Given the description of an element on the screen output the (x, y) to click on. 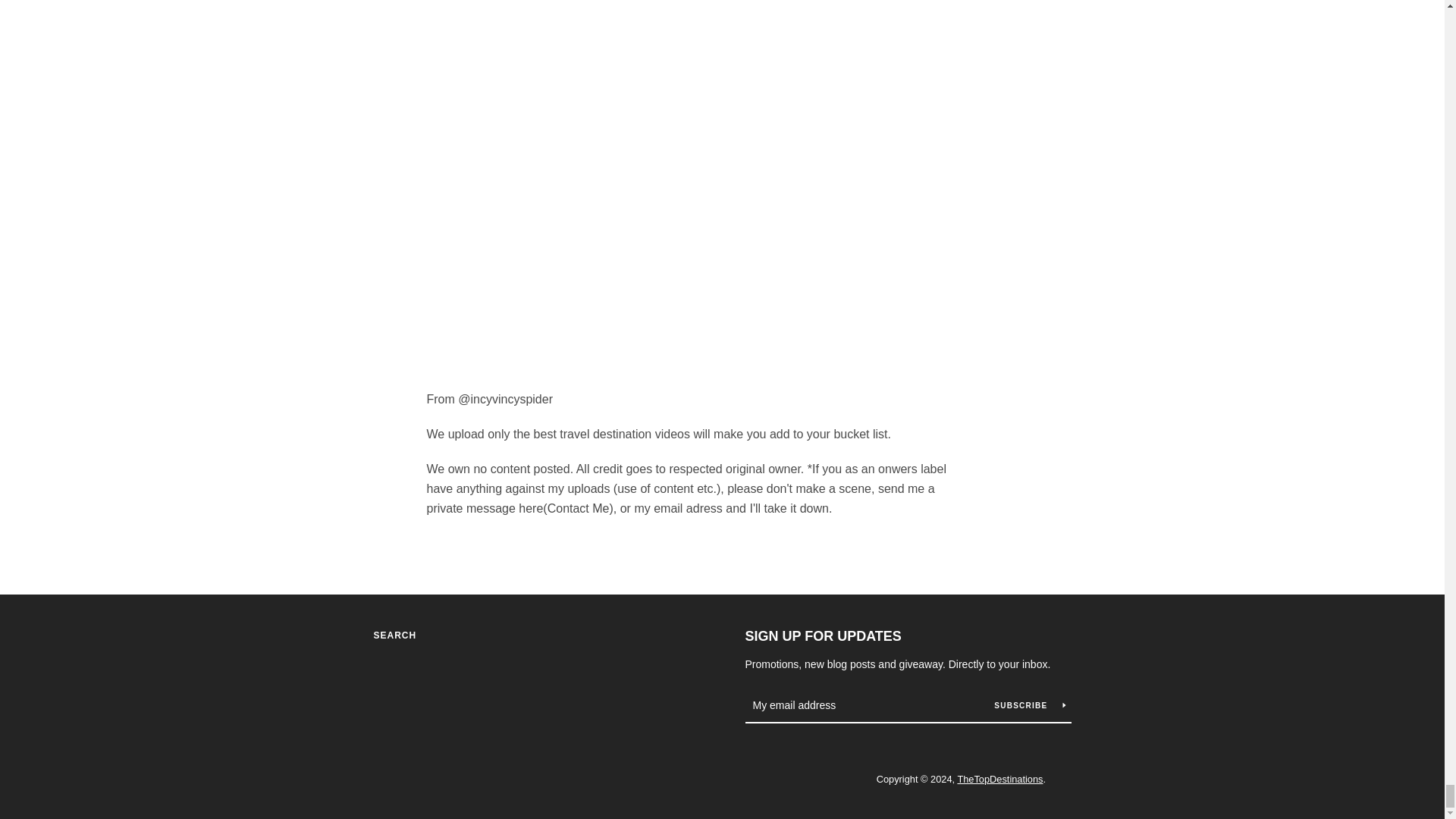
TheTopDestinations (999, 778)
SUBSCRIBE (1029, 704)
SEARCH (394, 634)
